Given the description of an element on the screen output the (x, y) to click on. 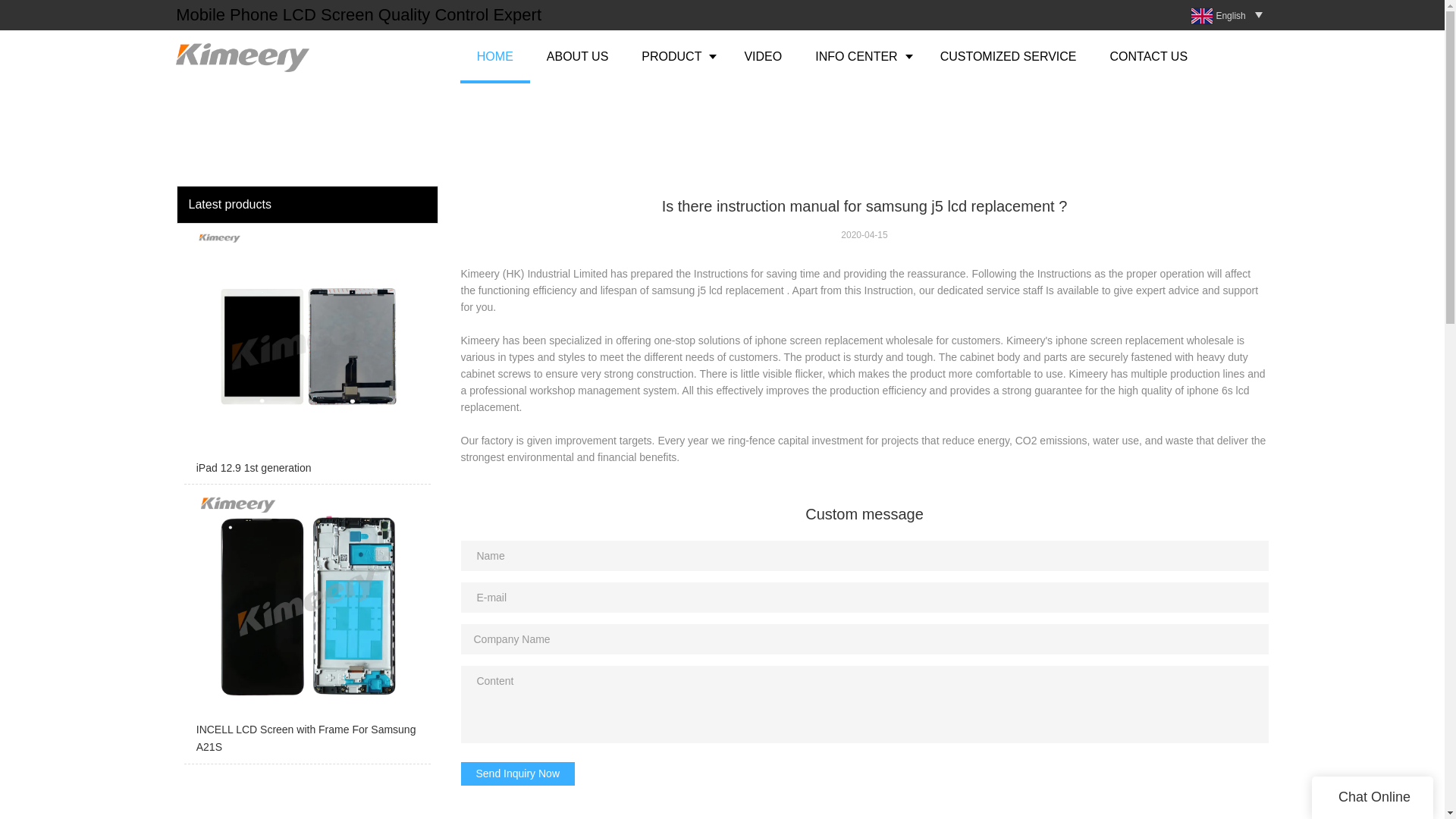
iPad 12.9 1st generation (306, 357)
VIDEO (761, 56)
PRODUCT (675, 56)
INFO CENTER (860, 56)
ABOUT US (577, 56)
CONTACT US (1149, 56)
INCELL LCD Screen with Frame For Samsung A21S (306, 627)
HOME (494, 56)
CUSTOMIZED SERVICE (1008, 56)
